Given the description of an element on the screen output the (x, y) to click on. 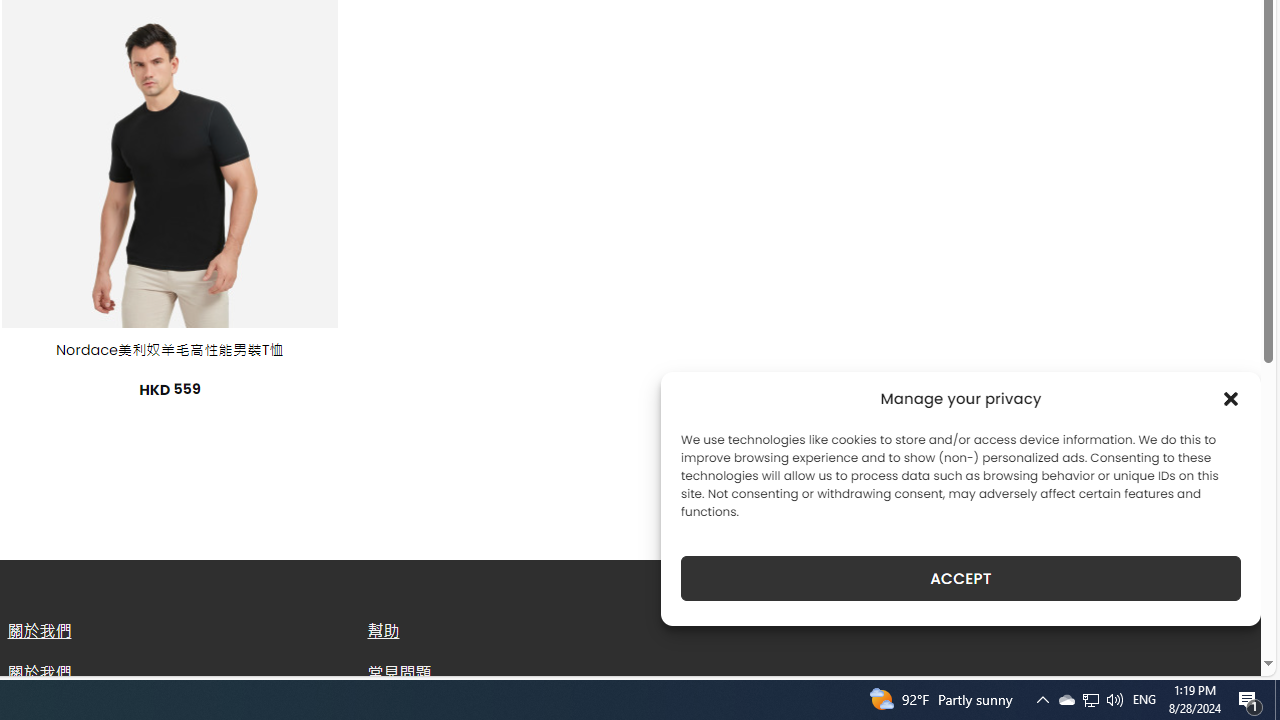
ACCEPT (960, 578)
Class: cmplz-close (1231, 398)
Go to top (1220, 647)
